Given the description of an element on the screen output the (x, y) to click on. 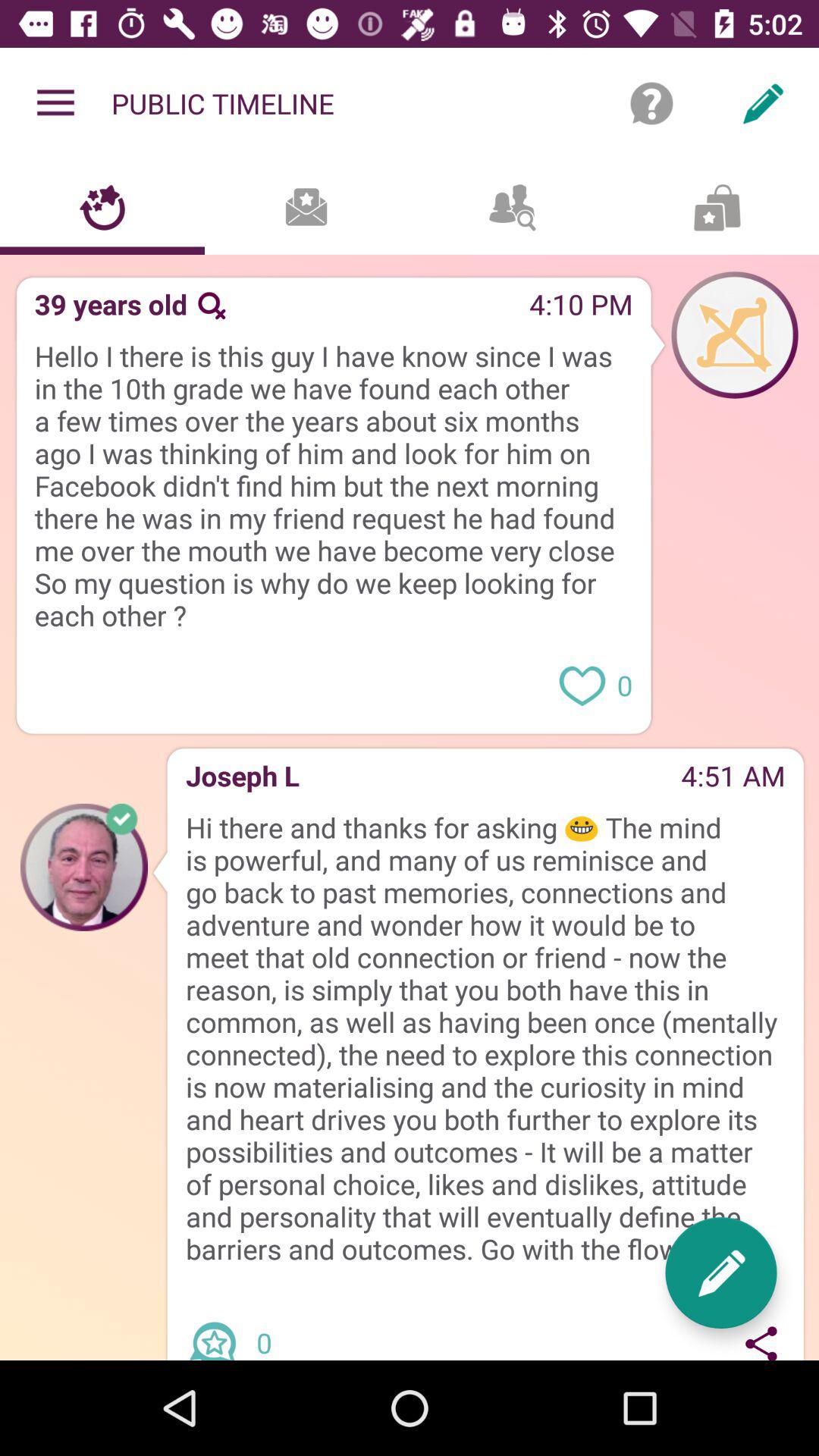
select icon above hello i there (377, 309)
